Given the description of an element on the screen output the (x, y) to click on. 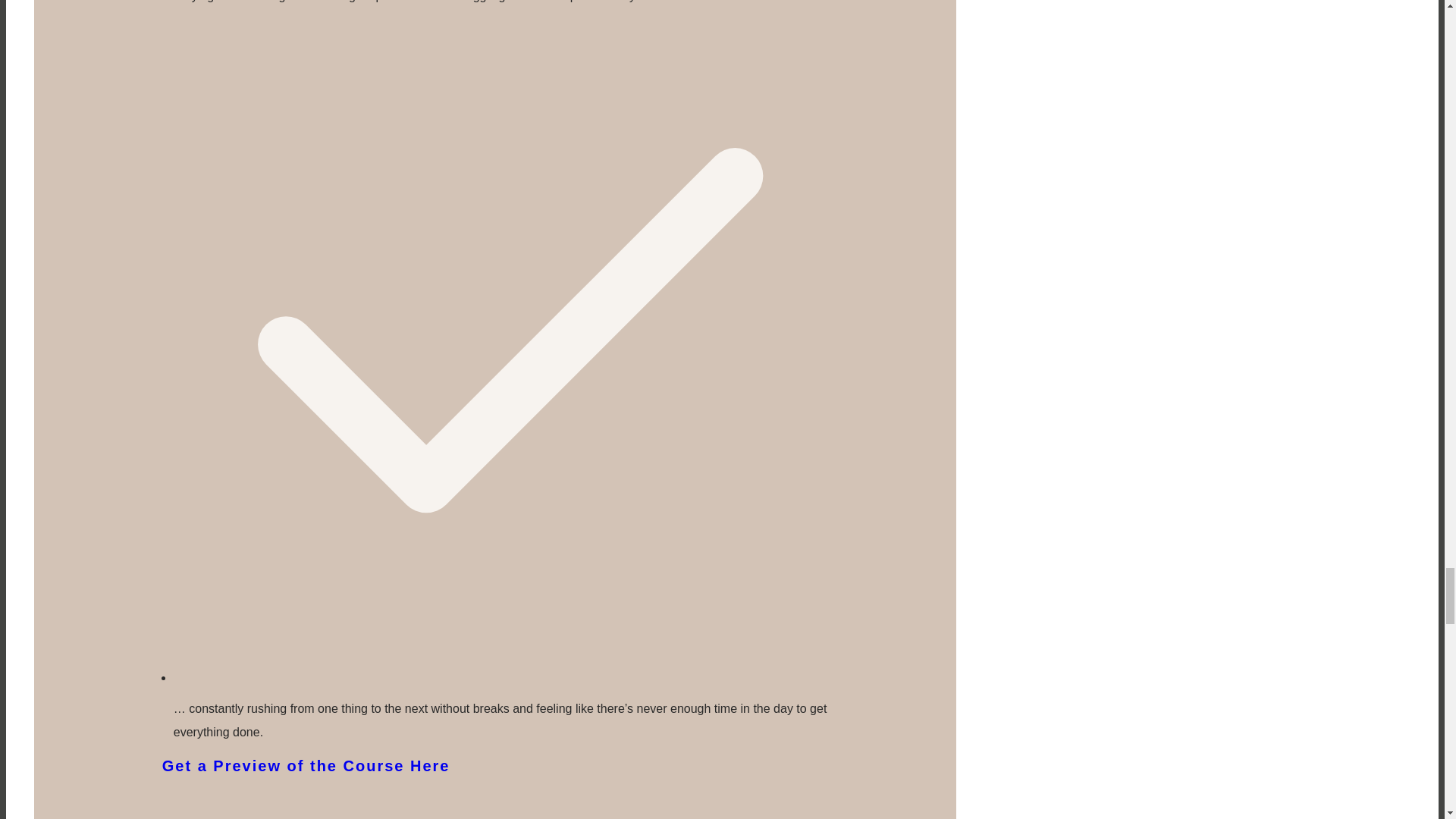
Get a Preview of the Course Here (504, 782)
